Given the description of an element on the screen output the (x, y) to click on. 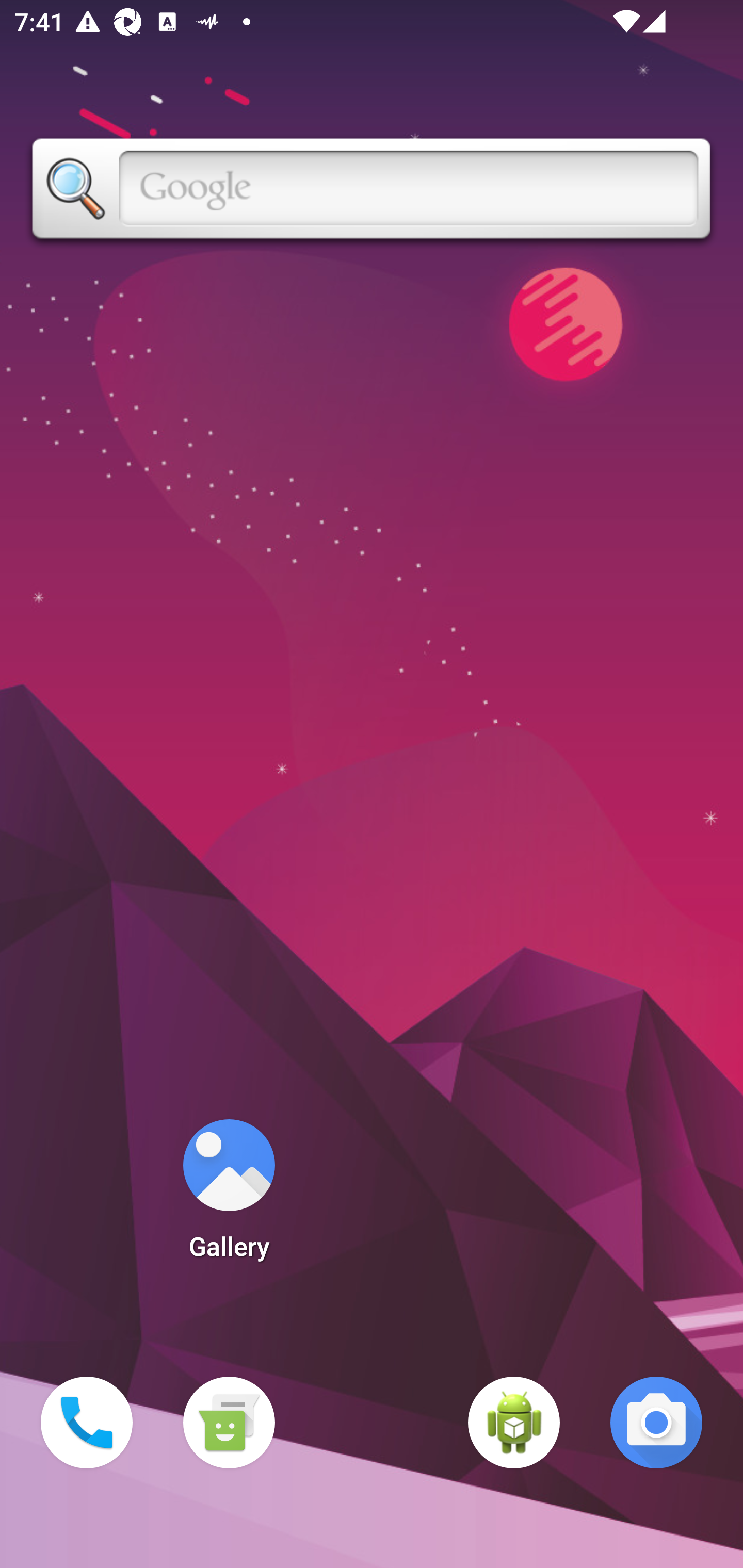
Gallery (228, 1195)
Phone (86, 1422)
Messaging (228, 1422)
WebView Browser Tester (513, 1422)
Camera (656, 1422)
